Given the description of an element on the screen output the (x, y) to click on. 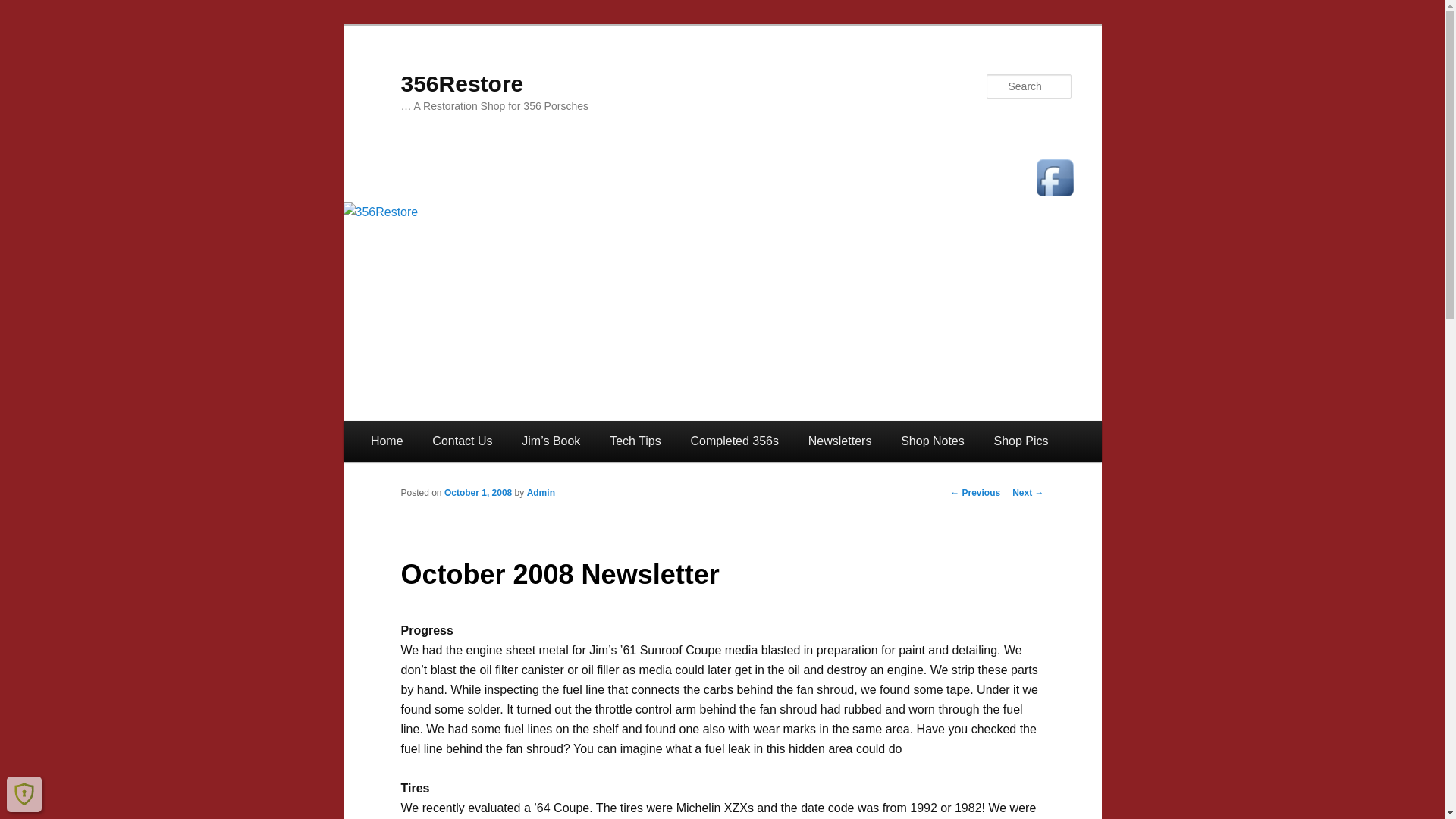
Contact Us (461, 440)
Home (386, 440)
Search (25, 9)
356Restore (461, 83)
Visit Us On Facebook (1053, 177)
Tech Tips (635, 440)
12:22 pm (478, 492)
View all posts by Admin (540, 492)
Shield Security (23, 793)
